Given the description of an element on the screen output the (x, y) to click on. 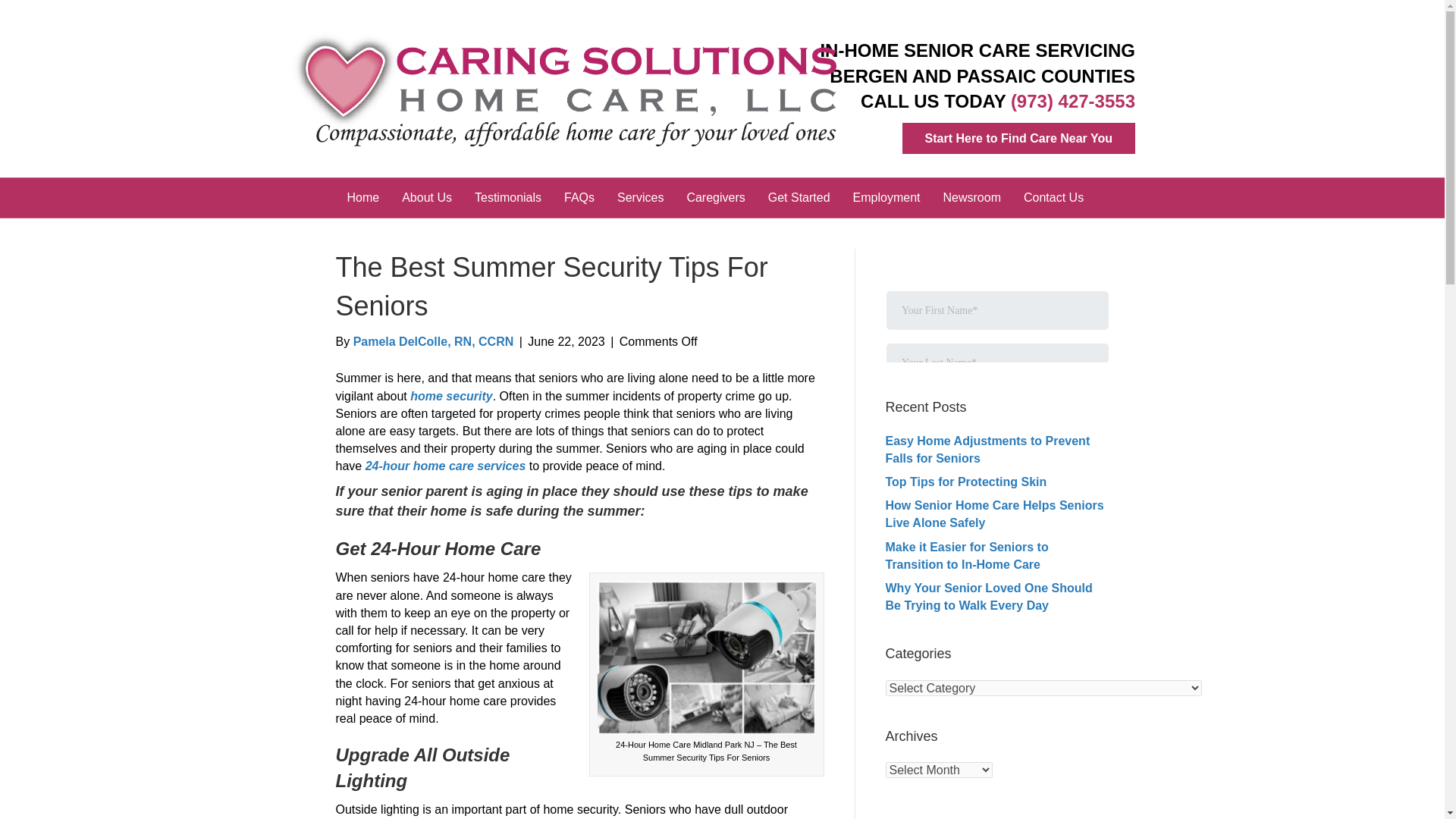
Pamela DelColle, RN, CCRN (433, 341)
Employment (886, 197)
Home (362, 197)
Get Started (799, 197)
Start Here to Find Care Near You (1018, 137)
24-hour home care services (447, 465)
About Us (426, 197)
Caregivers (715, 197)
Contact Us (1052, 197)
FAQs (579, 197)
